Given the description of an element on the screen output the (x, y) to click on. 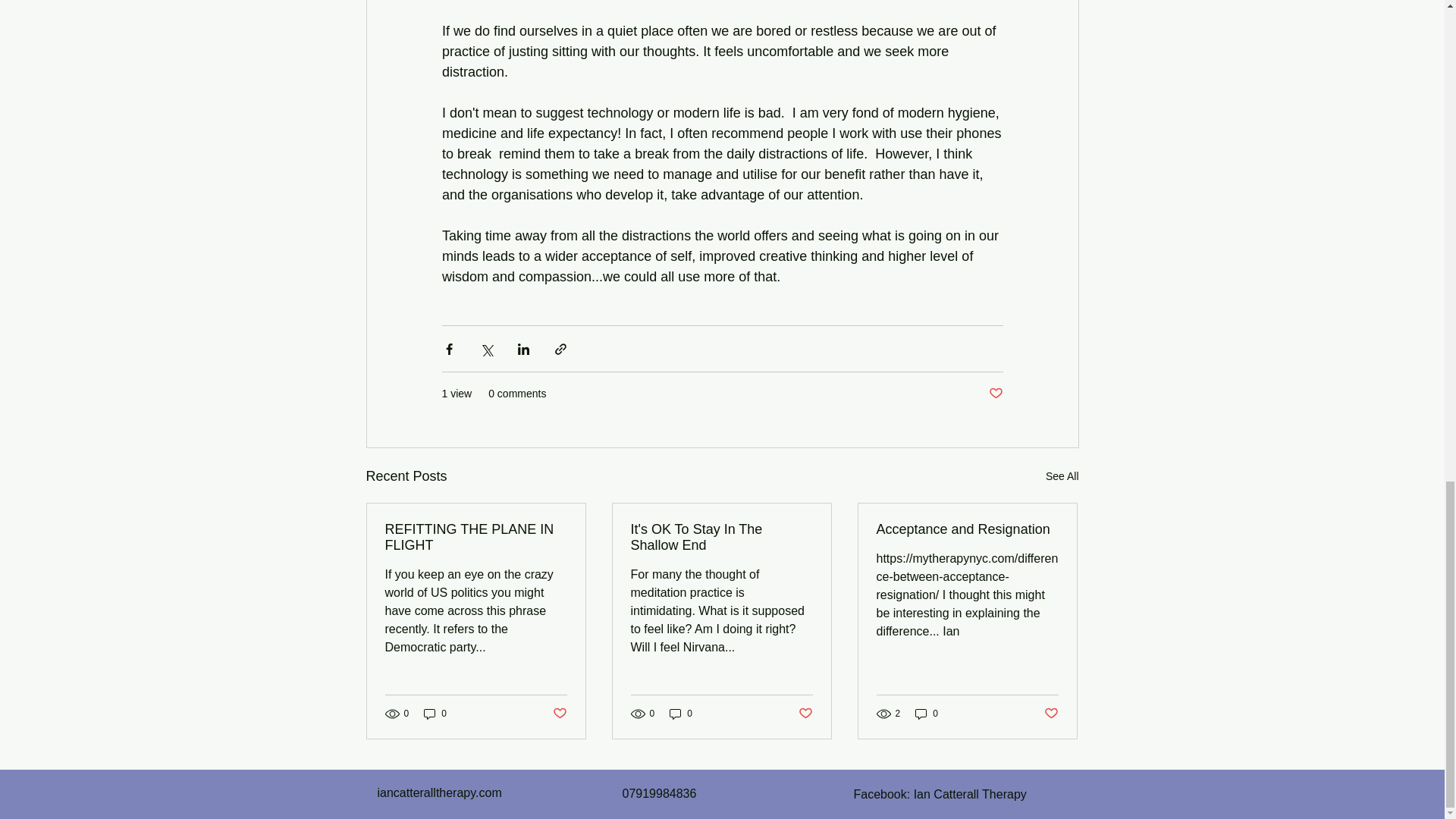
See All (1061, 476)
Post not marked as liked (804, 713)
Post not marked as liked (995, 393)
0 (435, 713)
Post not marked as liked (558, 713)
Acceptance and Resignation (967, 529)
It's OK To Stay In The Shallow End (721, 537)
Post not marked as liked (1050, 713)
0 (926, 713)
0 (681, 713)
